Given the description of an element on the screen output the (x, y) to click on. 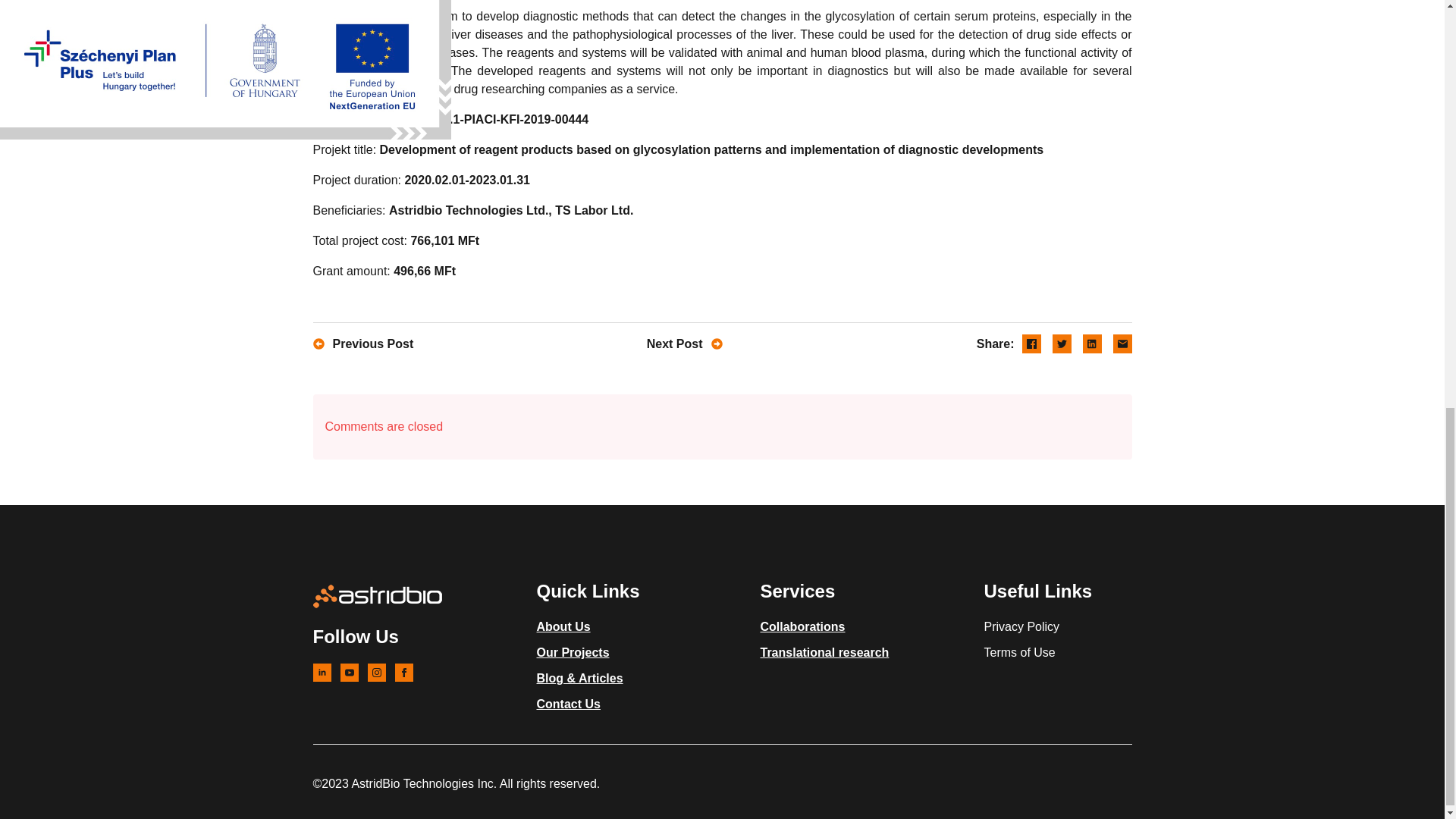
Collaborations (802, 626)
Previous Post (411, 343)
Contact Us (568, 703)
Translational research (824, 652)
Our Projects (573, 652)
About Us (564, 626)
Next Post (623, 343)
